Given the description of an element on the screen output the (x, y) to click on. 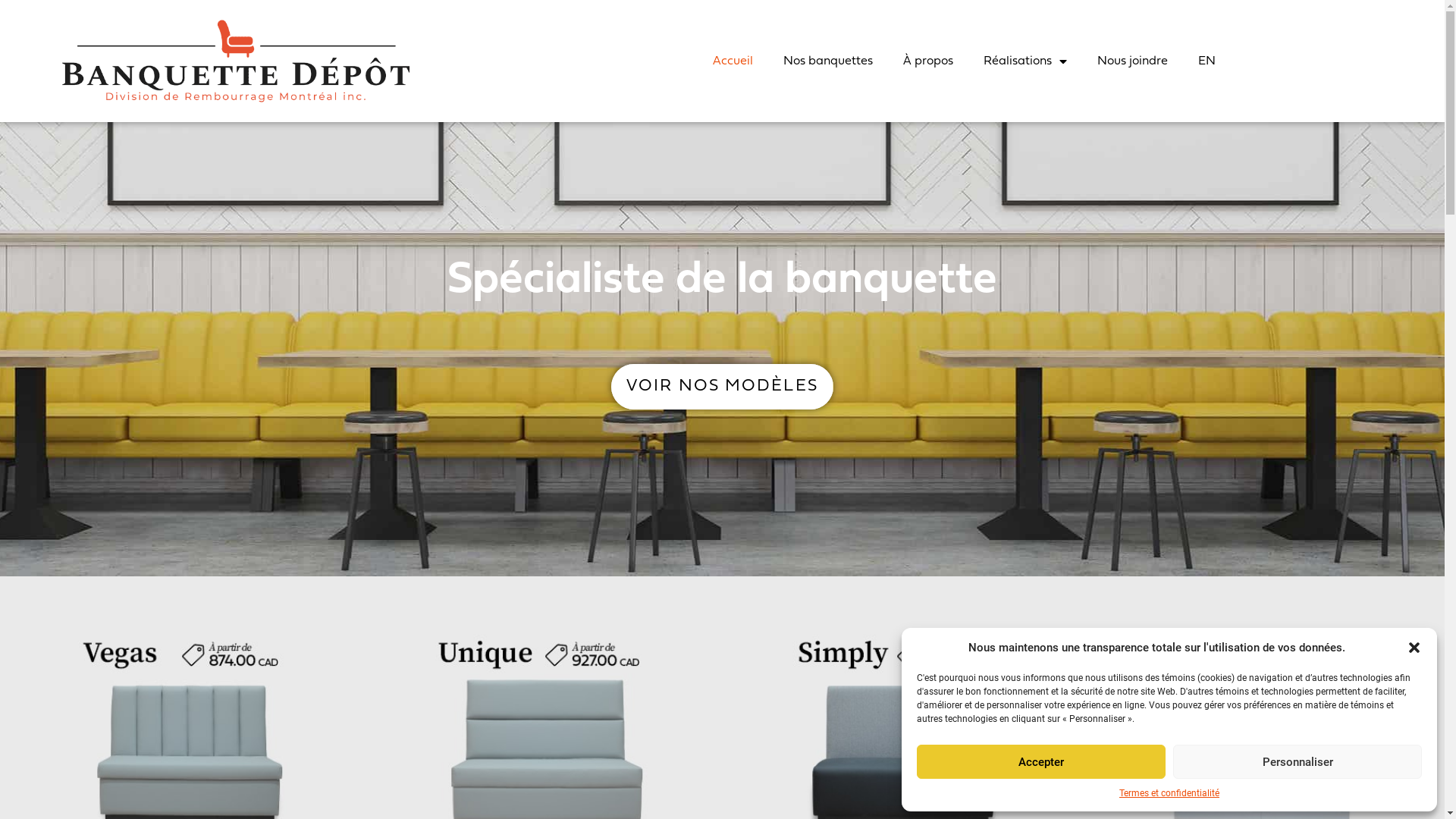
Nos banquettes Element type: text (828, 60)
Personnaliser Element type: text (1297, 761)
Nous joindre Element type: text (1132, 60)
Accepter Element type: text (1040, 761)
EN Element type: text (1206, 60)
Accueil Element type: text (732, 60)
